Given the description of an element on the screen output the (x, y) to click on. 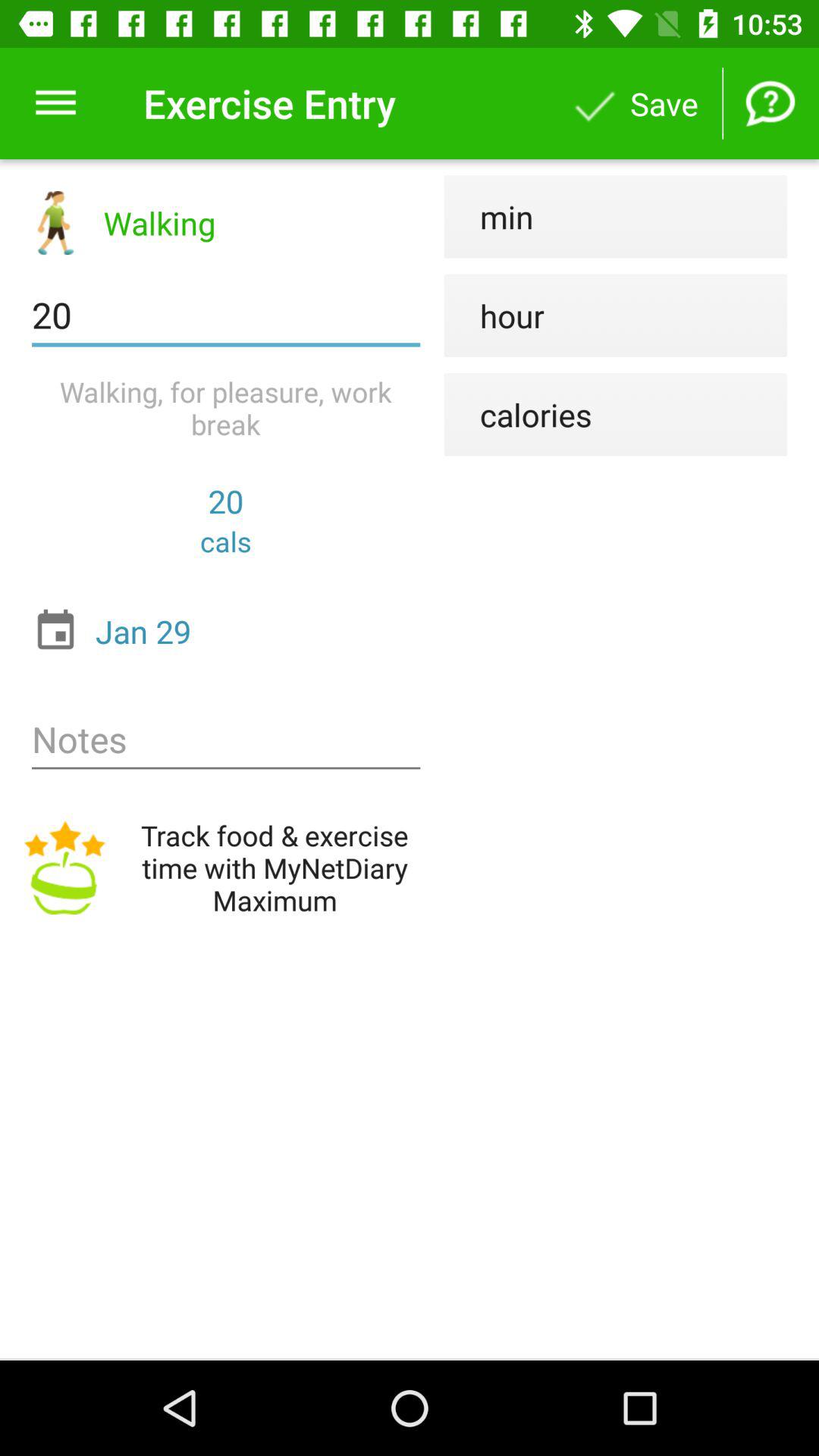
swipe to the jan 29 item (229, 631)
